Given the description of an element on the screen output the (x, y) to click on. 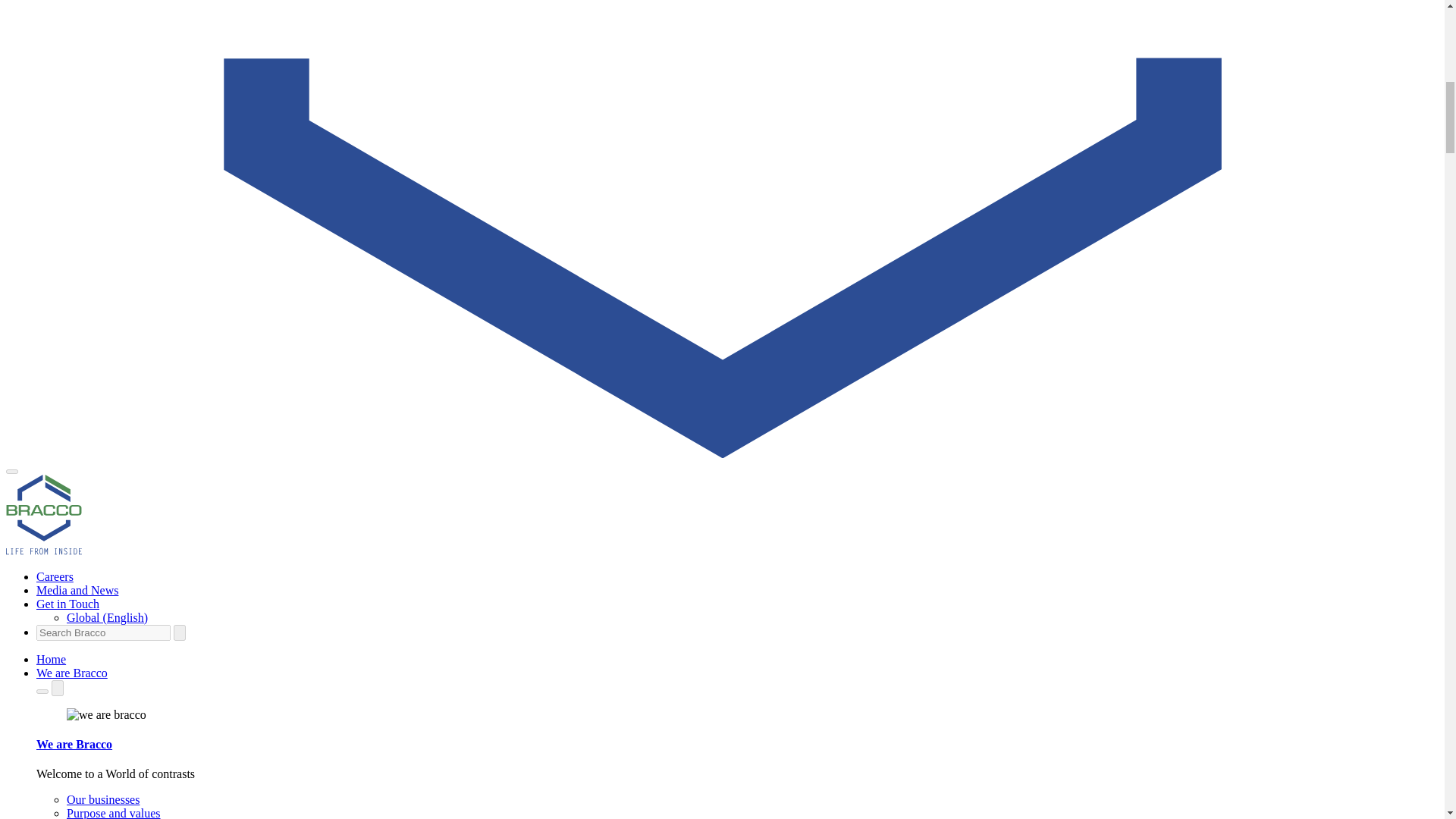
Welcome to a World of contrasts (71, 672)
Home (50, 658)
Search (179, 632)
Media and News (76, 590)
Get in Touch (67, 603)
Careers (55, 576)
We are Bracco (71, 672)
